Given the description of an element on the screen output the (x, y) to click on. 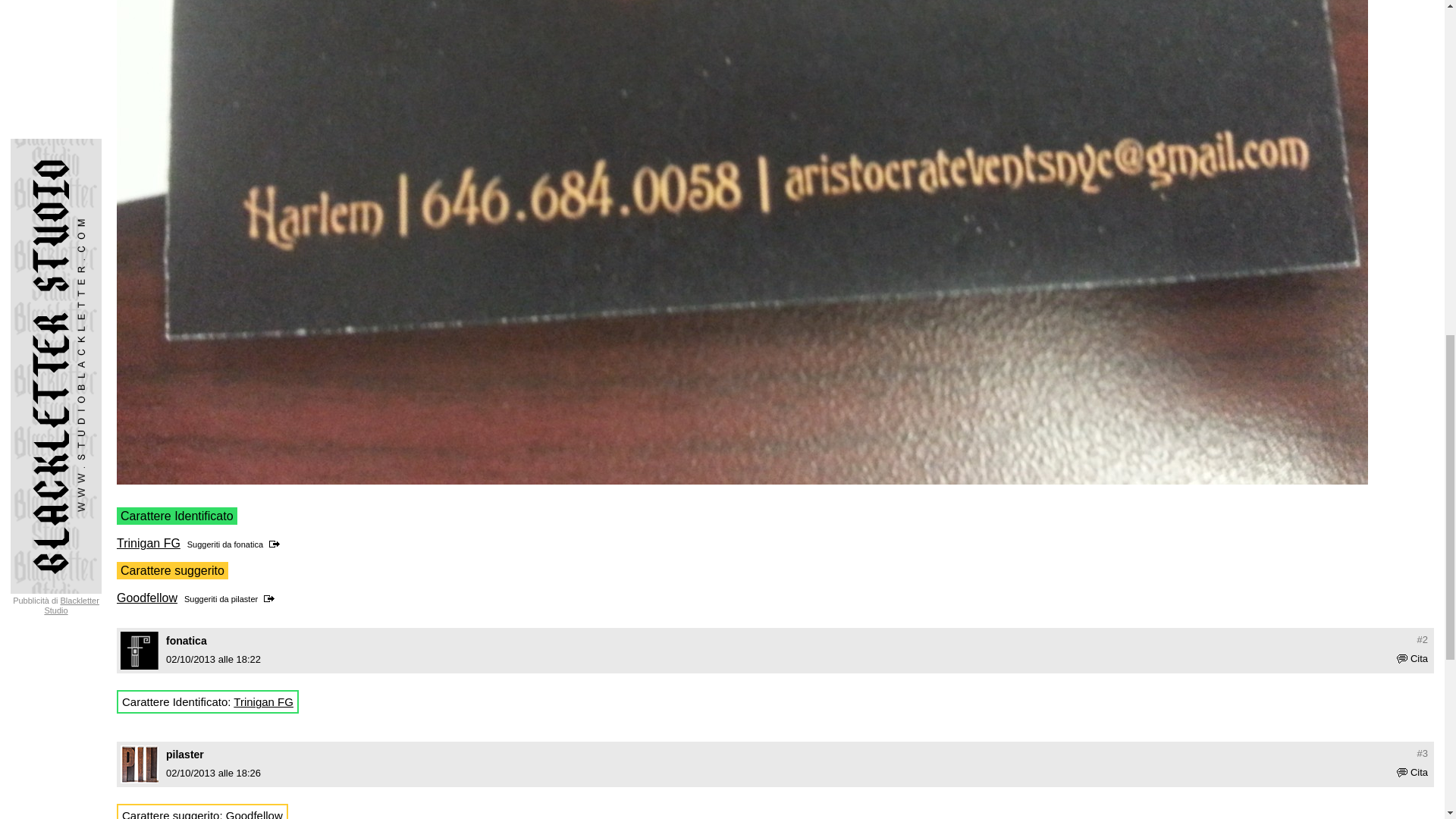
Vedi post (271, 598)
Vedi post (276, 543)
Link a questo post (1422, 639)
Link a questo post (1422, 753)
